Given the description of an element on the screen output the (x, y) to click on. 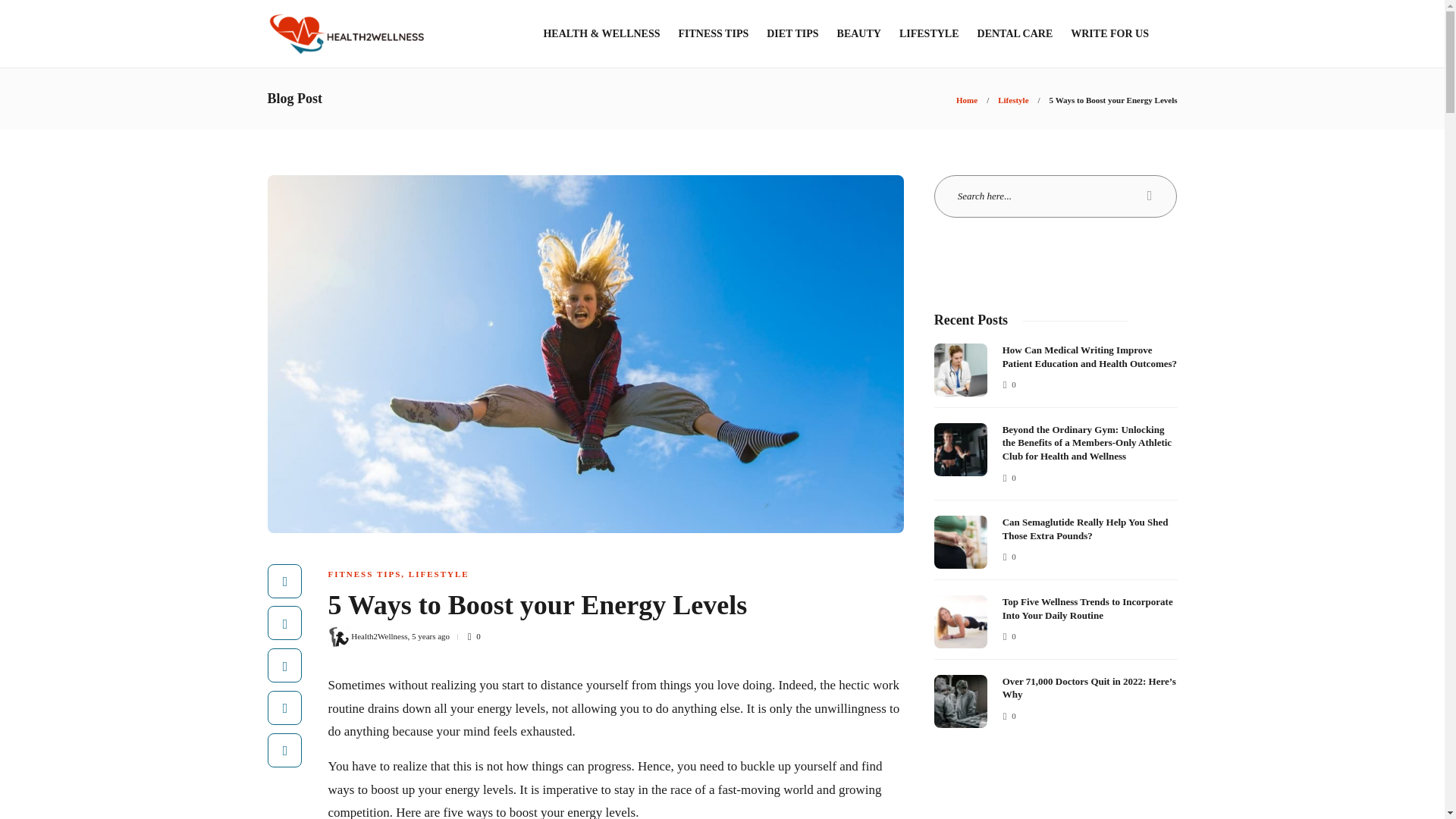
WRITE FOR US (1109, 33)
Search text (1055, 196)
FITNESS TIPS (713, 33)
LIFESTYLE (929, 33)
5 Ways to Boost your Energy Levels (1113, 99)
Home (966, 99)
Home (966, 99)
Lifestyle (1012, 99)
DENTAL CARE (1014, 33)
DIET TIPS (792, 33)
